Given the description of an element on the screen output the (x, y) to click on. 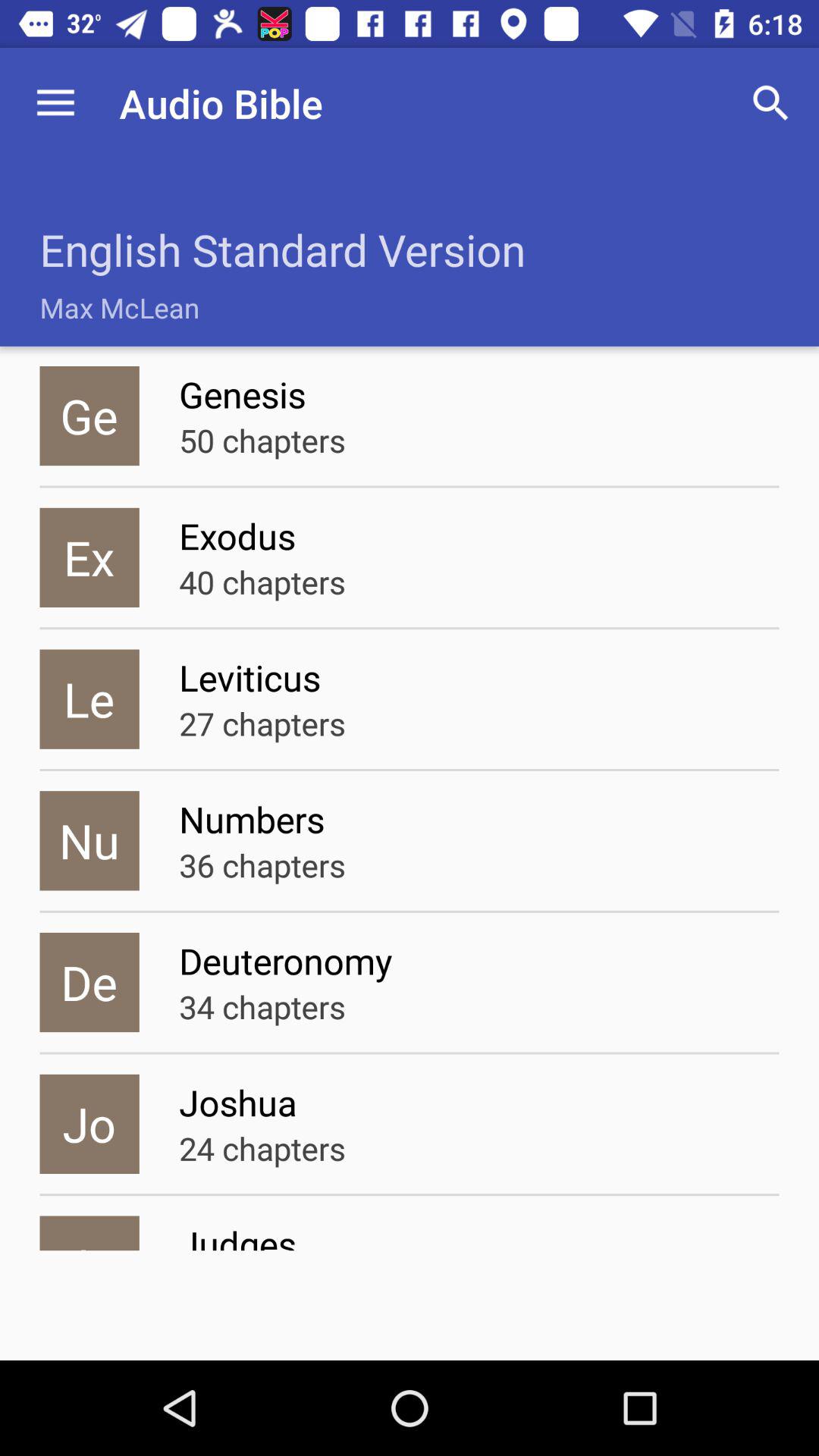
scroll to 27 chapters (262, 723)
